Given the description of an element on the screen output the (x, y) to click on. 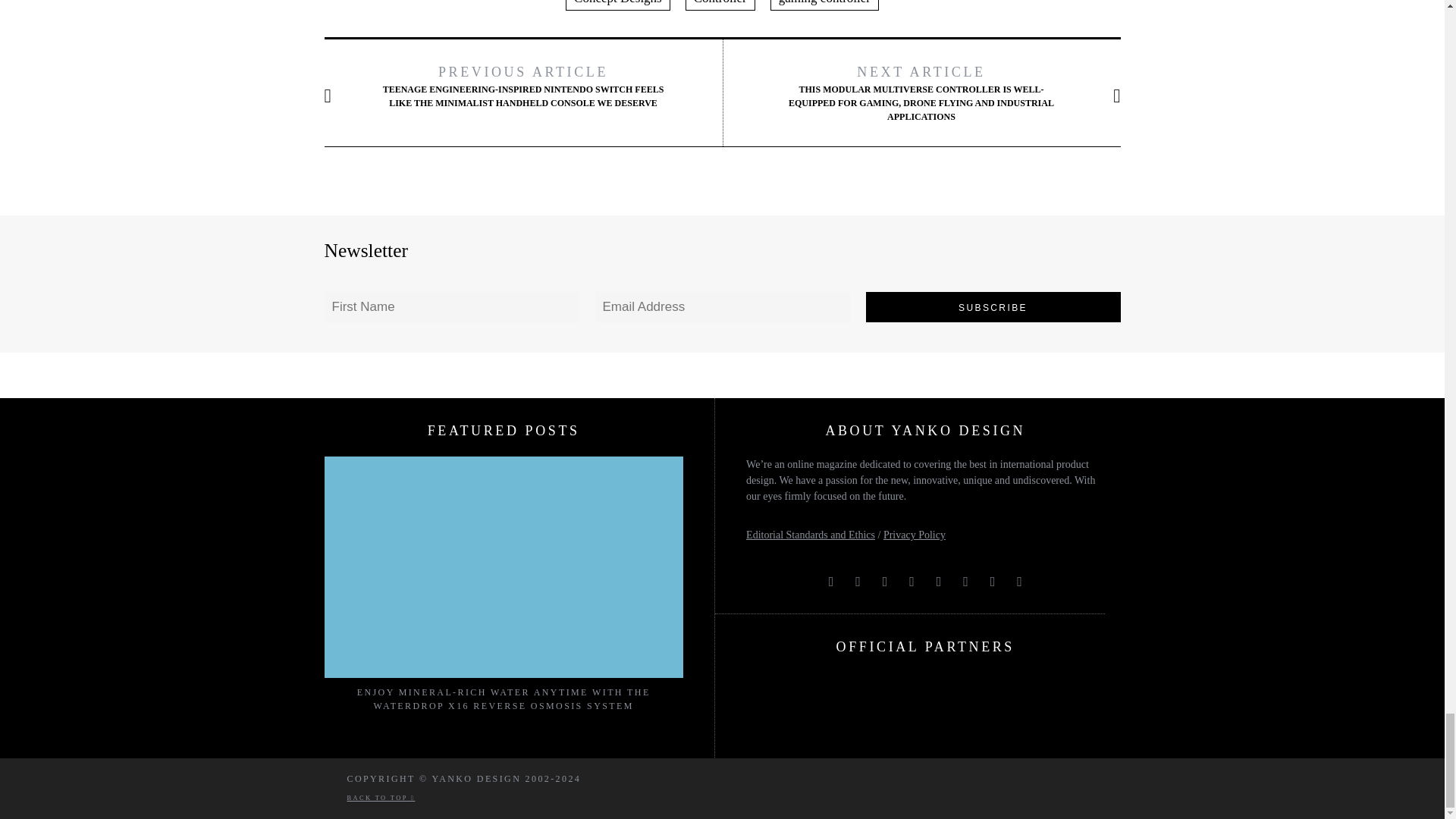
Privacy Policy (913, 534)
Subscribe (993, 306)
Editorial Standards and Ethics (810, 534)
